Given the description of an element on the screen output the (x, y) to click on. 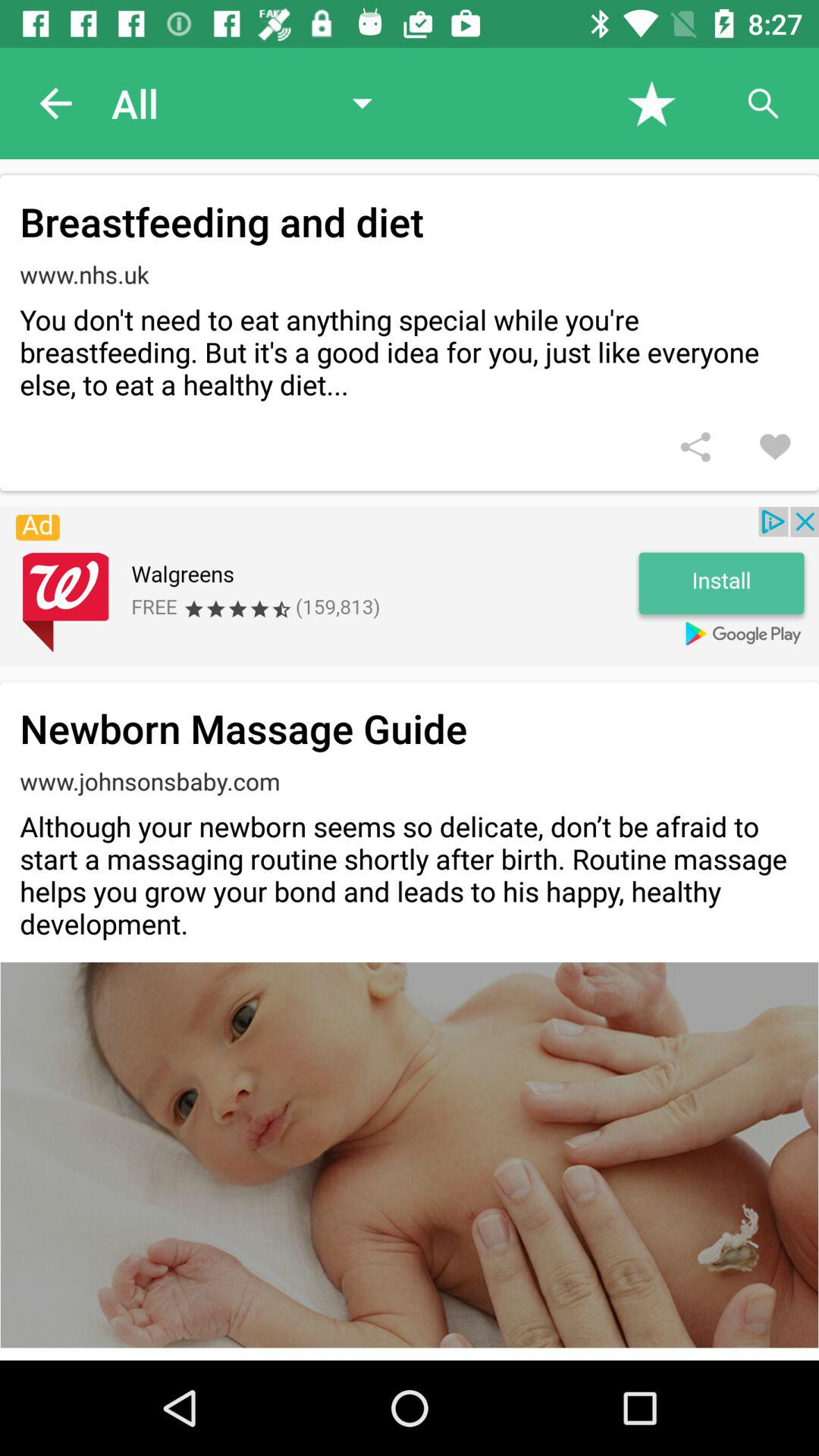
favorite the article (651, 103)
